Given the description of an element on the screen output the (x, y) to click on. 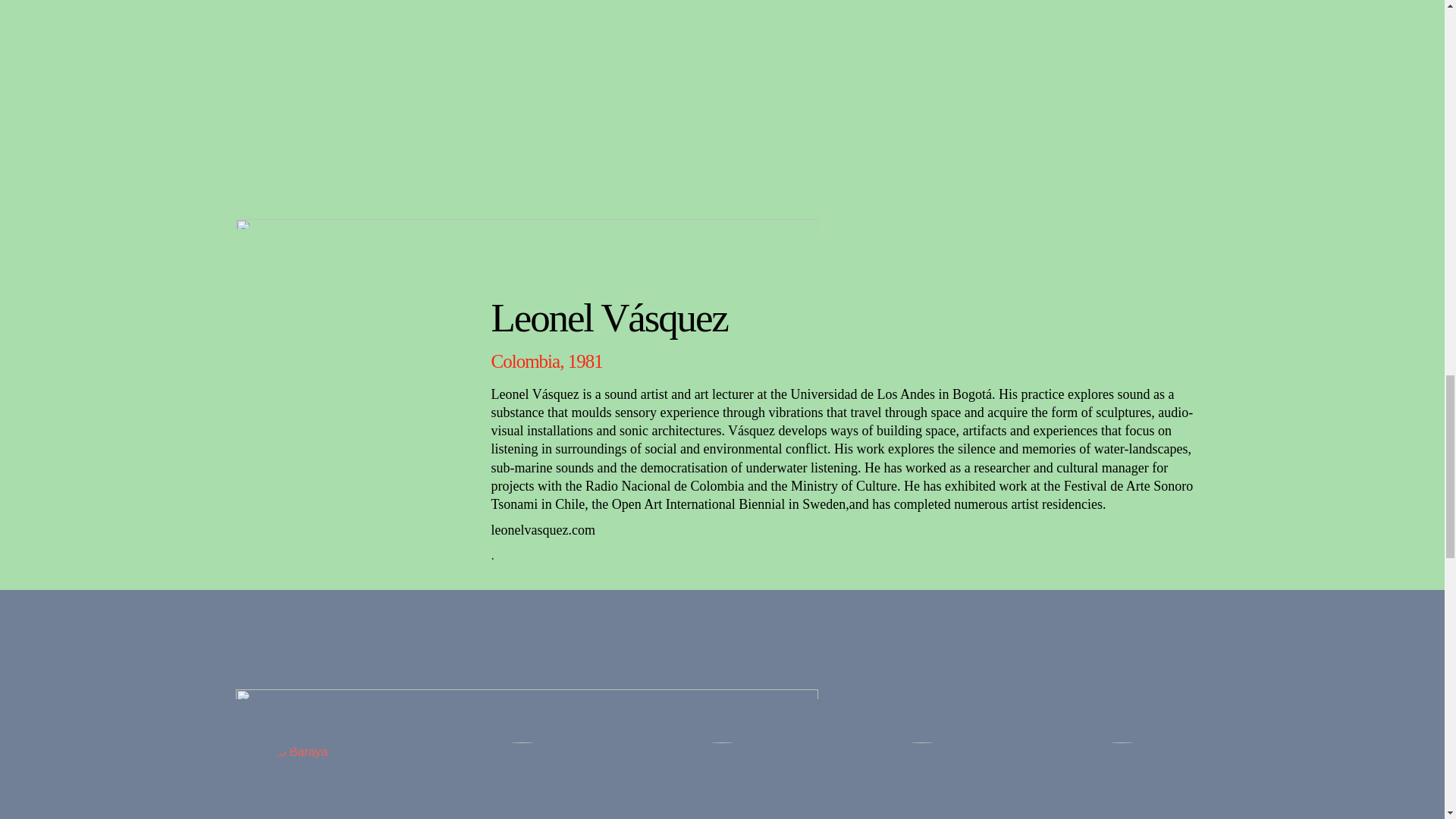
Emilio Chapela (921, 780)
Alberto Baraya (322, 780)
Tania Candiani (721, 780)
leonelvasquez.com (543, 529)
